Given the description of an element on the screen output the (x, y) to click on. 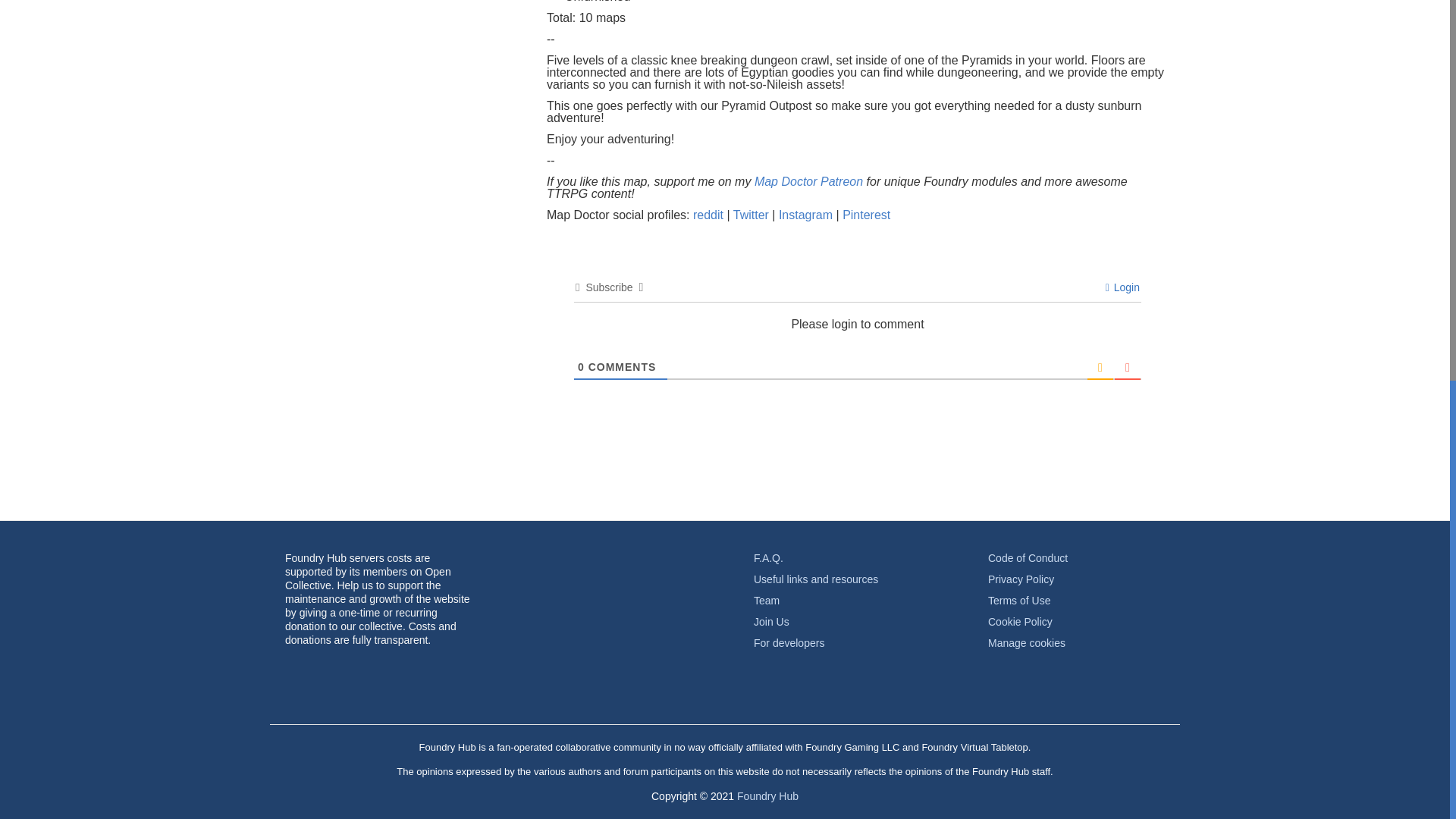
Twitter (753, 214)
reddit (709, 214)
Pinterest (866, 214)
Instagram (806, 214)
Map Doctor Patreon (808, 181)
Login (1122, 287)
